Given the description of an element on the screen output the (x, y) to click on. 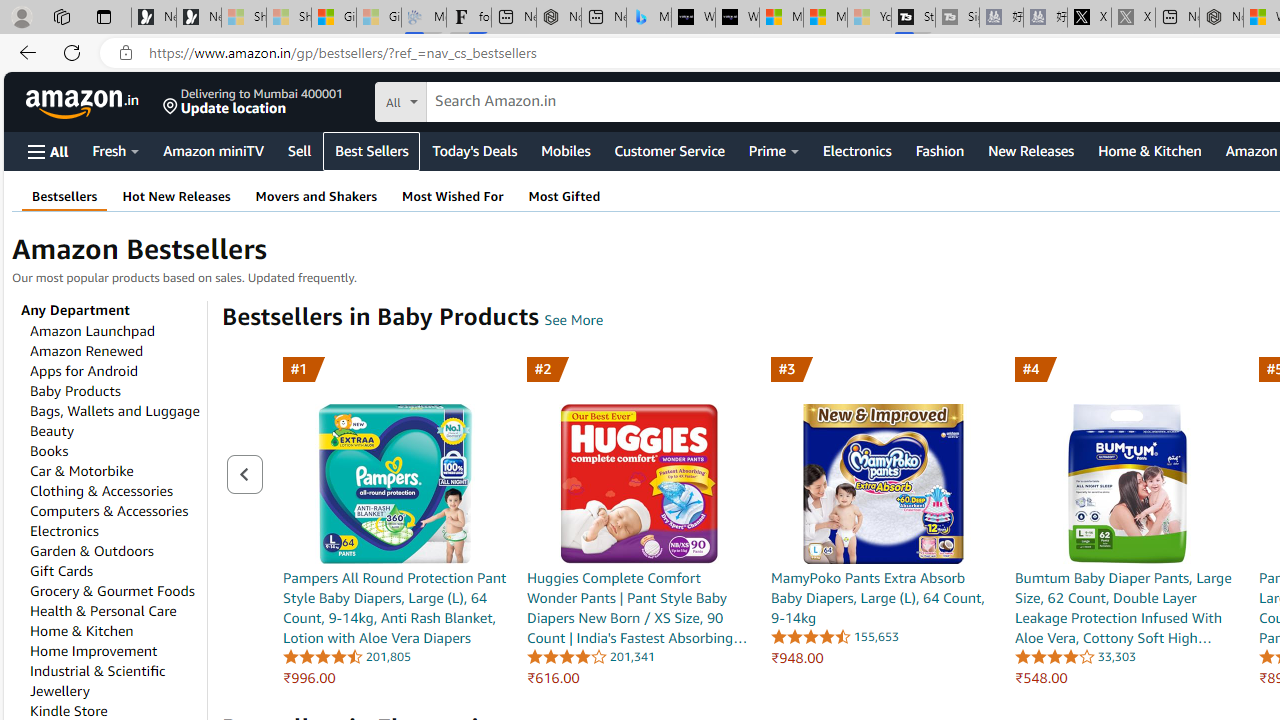
Hot New Releases (176, 196)
Streaming Coverage | T3 (913, 17)
Search in (476, 99)
Garden & Outdoors (91, 551)
Most Wished For (452, 196)
Baby Products (75, 391)
What's the best AI voice generator? - voice.ai (737, 17)
Class: a-link-normal (1127, 608)
Prime (773, 150)
Industrial & Scientific (97, 670)
Sell (299, 150)
Jewellery (59, 690)
